Given the description of an element on the screen output the (x, y) to click on. 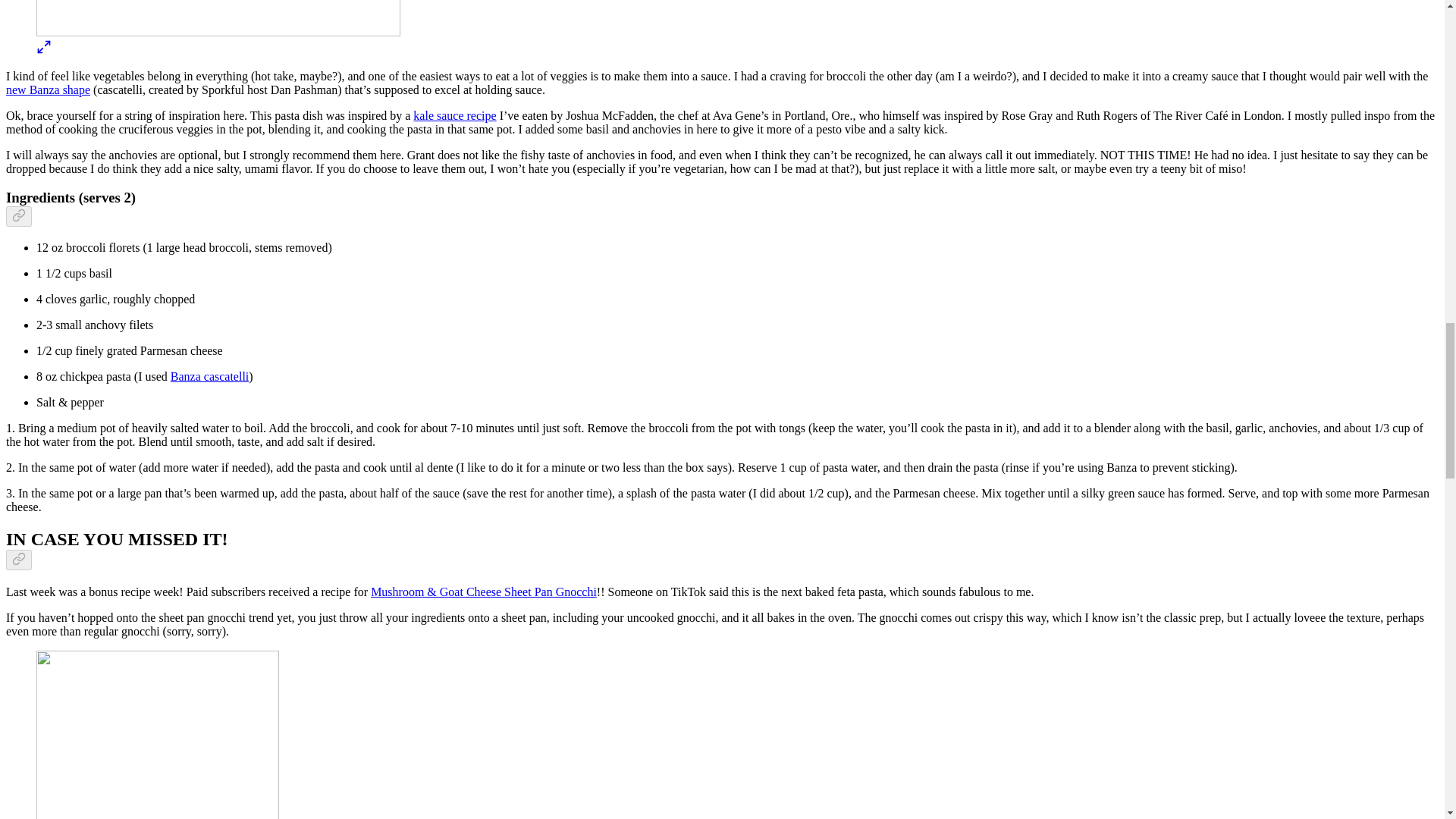
kale sauce recipe (454, 115)
Banza cascatelli (209, 376)
new Banza shape (47, 89)
